Given the description of an element on the screen output the (x, y) to click on. 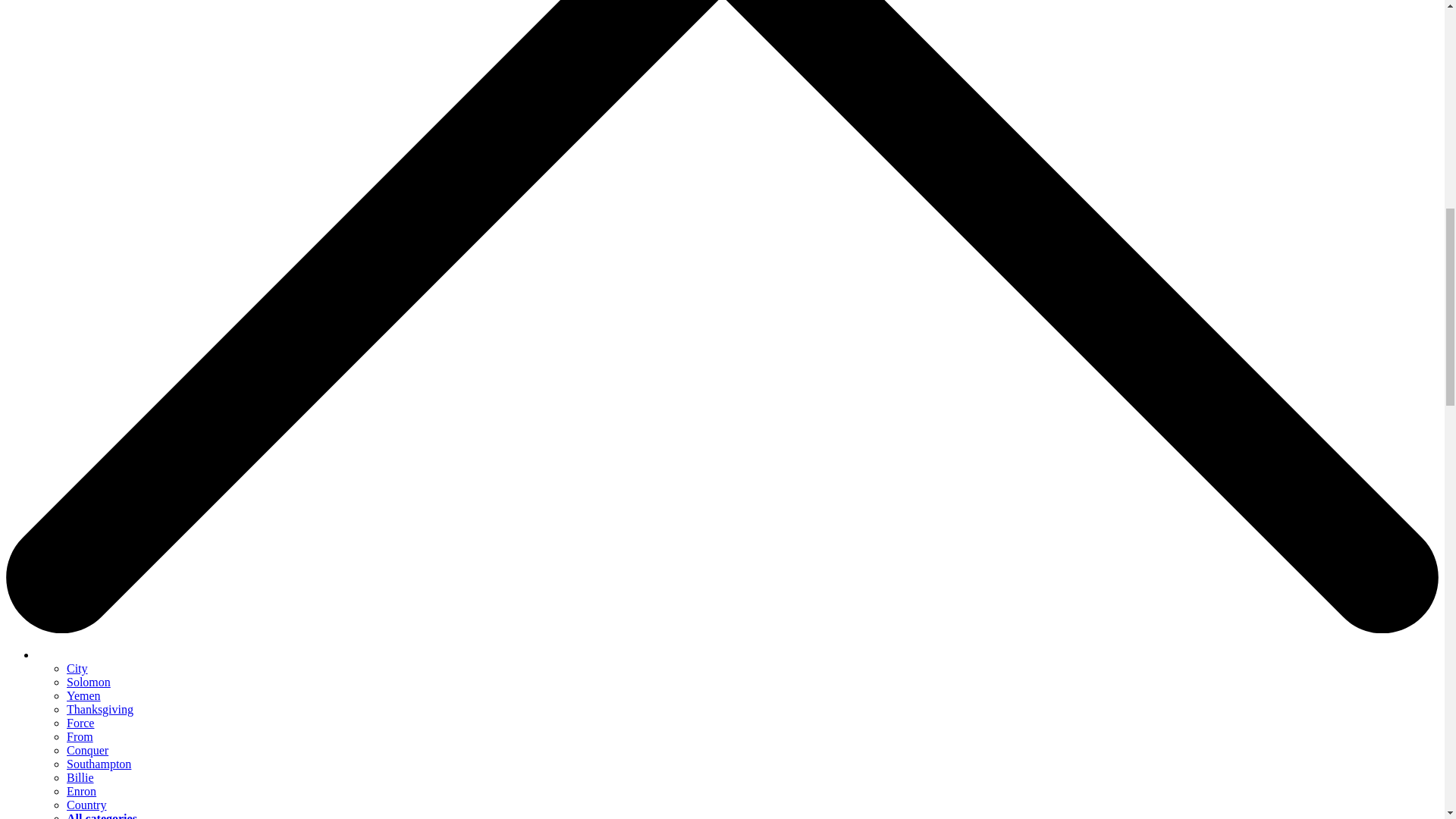
Enron (81, 790)
All categories (101, 815)
From (79, 736)
City (76, 667)
Billie (80, 777)
Southampton (98, 763)
Yemen (83, 695)
Force (80, 722)
Conquer (86, 749)
Thanksgiving (99, 708)
